Given the description of an element on the screen output the (x, y) to click on. 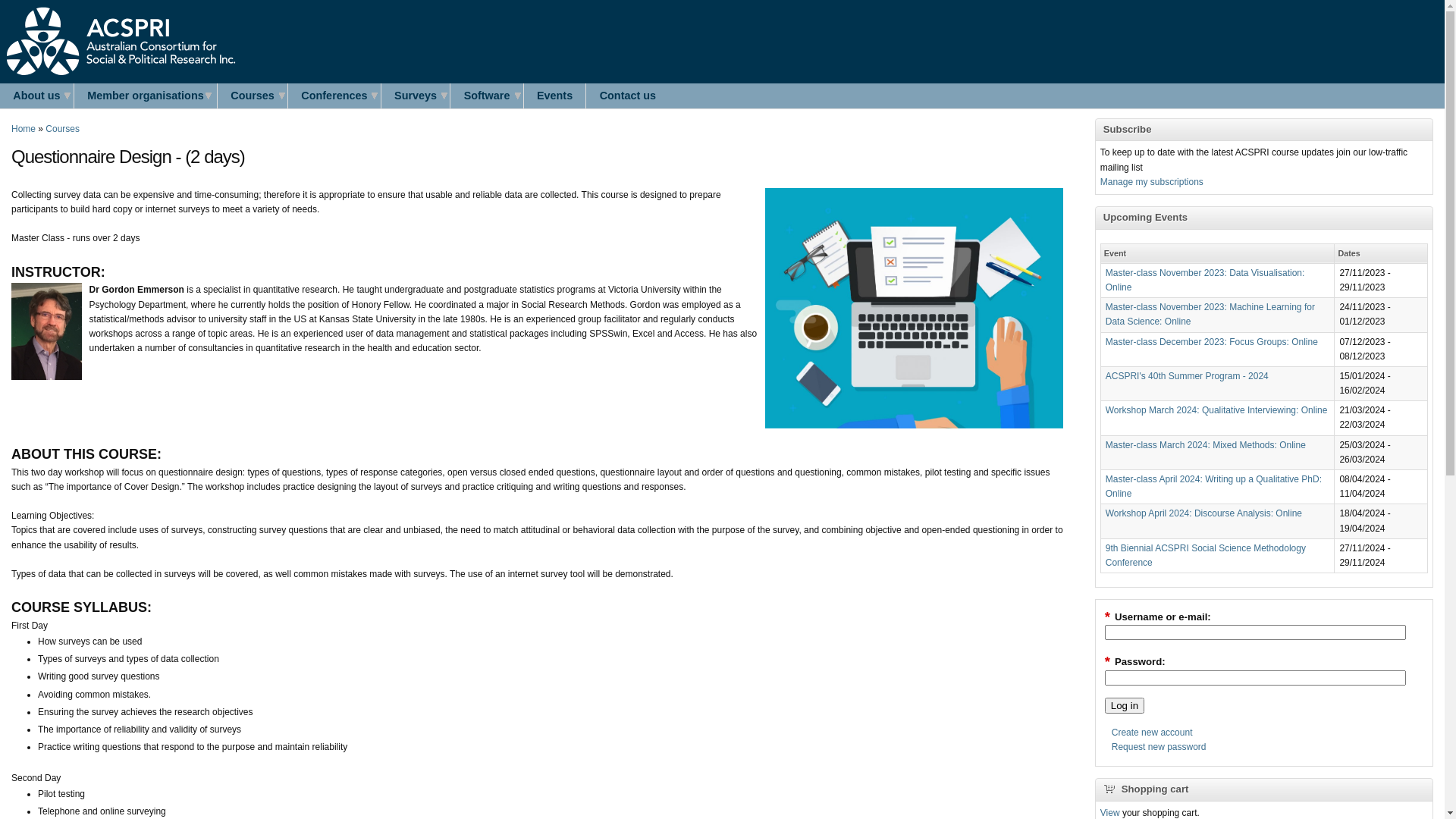
Master-class March 2024: Mixed Methods: Online Element type: text (1205, 444)
Surveys Element type: text (415, 95)
9th Biennial ACSPRI Social Science Methodology Conference Element type: text (1205, 554)
Request new password Element type: text (1158, 746)
Conferences Element type: text (334, 95)
Events Element type: text (555, 95)
View Element type: text (1110, 812)
Create new account Element type: text (1151, 732)
Workshop April 2024: Discourse Analysis: Online Element type: text (1203, 513)
Master-class November 2023: Data Visualisation: Online Element type: text (1205, 279)
Courses Element type: text (252, 95)
Home Element type: text (23, 128)
ACSPRI's 40th Summer Program - 2024 Element type: text (1186, 375)
Workshop March 2024: Qualitative Interviewing: Online Element type: text (1216, 409)
Courses Element type: text (62, 128)
Member organisations Element type: text (145, 95)
Log in Element type: text (1124, 705)
Software Element type: text (486, 95)
Contact us Element type: text (627, 95)
Manage my subscriptions Element type: text (1151, 181)
Master-class December 2023: Focus Groups: Online Element type: text (1211, 341)
About us Element type: text (36, 95)
View your shopping cart. Element type: hover (1112, 787)
